Given the description of an element on the screen output the (x, y) to click on. 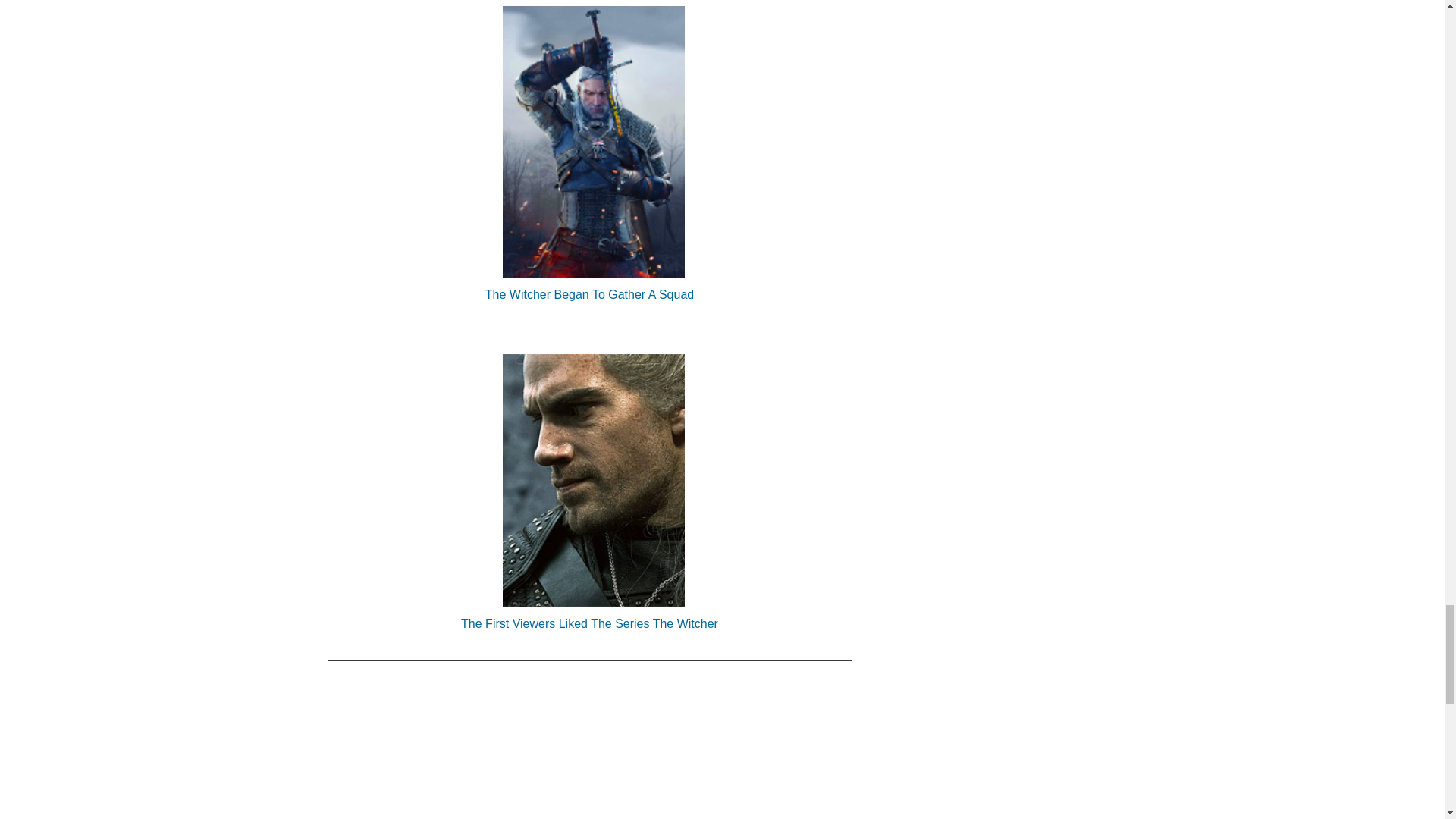
The First Viewers Liked The Series The Witcher (588, 623)
The Witcher Began To Gather A Squad (588, 294)
